Given the description of an element on the screen output the (x, y) to click on. 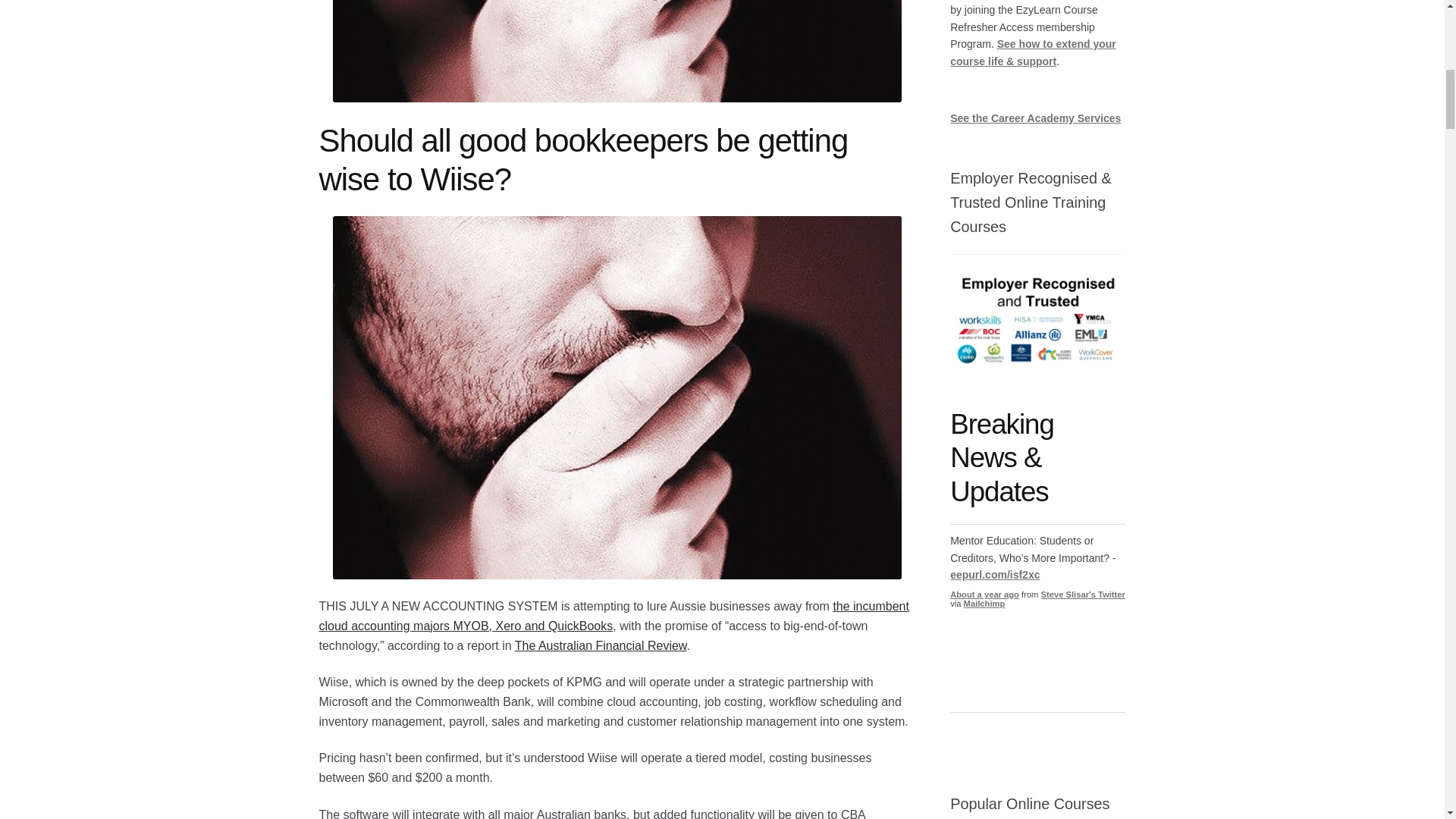
The Australian Financial Review (601, 645)
Steve Slisar (1083, 593)
